Given the description of an element on the screen output the (x, y) to click on. 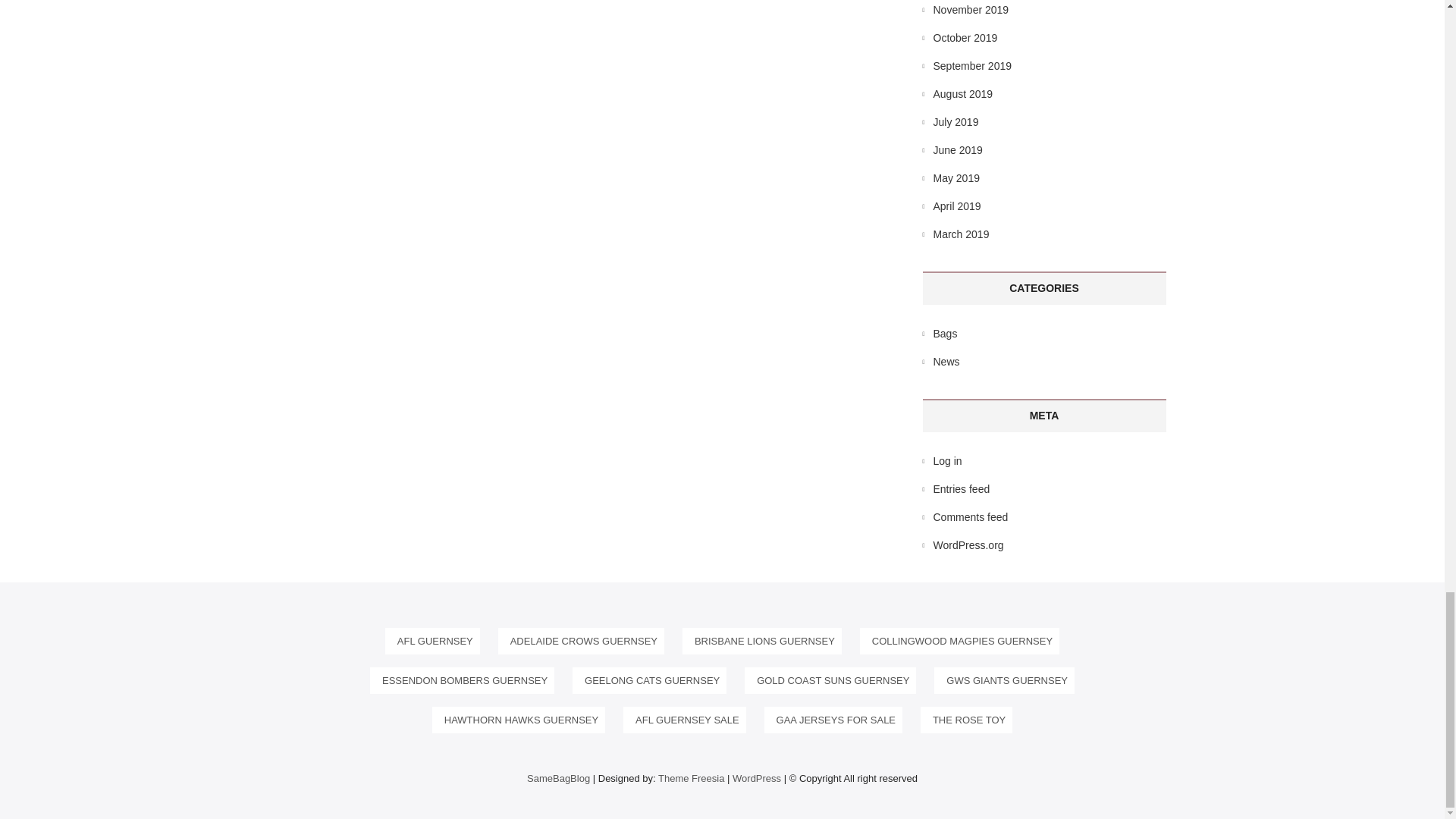
SameBagBlog (558, 778)
WordPress (756, 778)
Theme Freesia (690, 778)
